Given the description of an element on the screen output the (x, y) to click on. 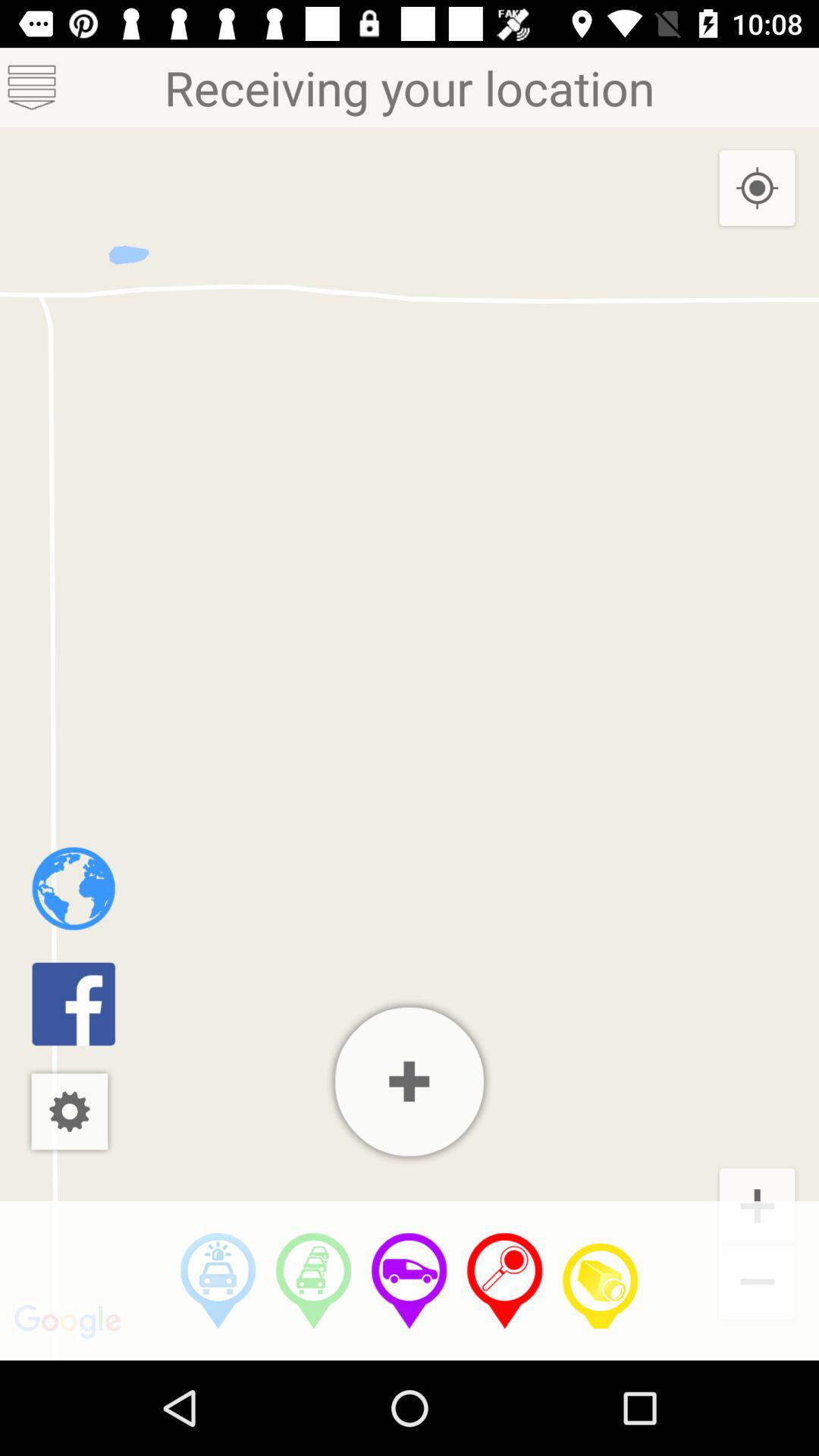
choose the app below receiving your location icon (600, 1280)
